Given the description of an element on the screen output the (x, y) to click on. 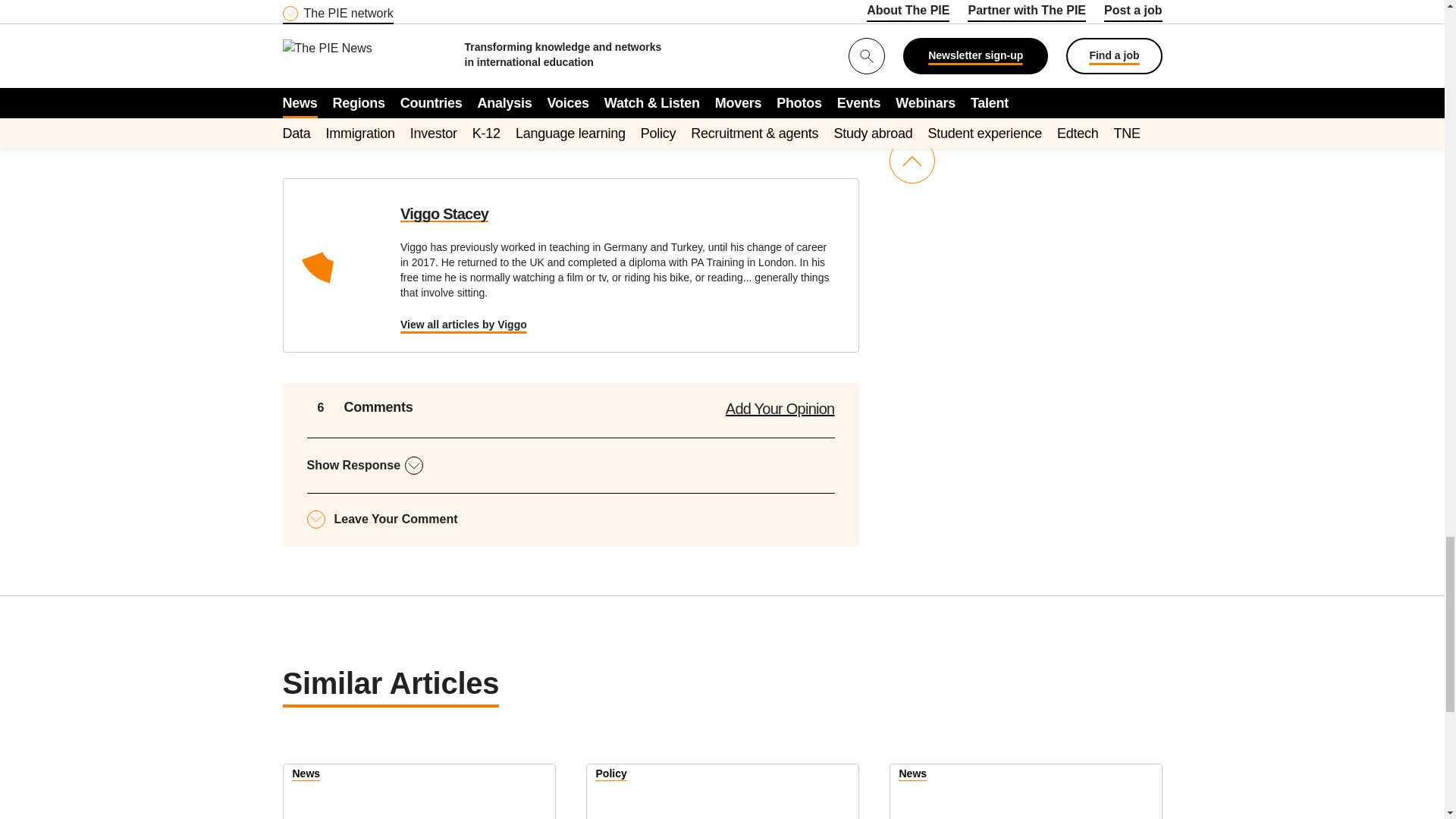
View all News articles (912, 775)
View all News articles (306, 775)
US State Department seeks to cut student visa bureaucracy (722, 791)
View all Policy articles (611, 775)
